Given the description of an element on the screen output the (x, y) to click on. 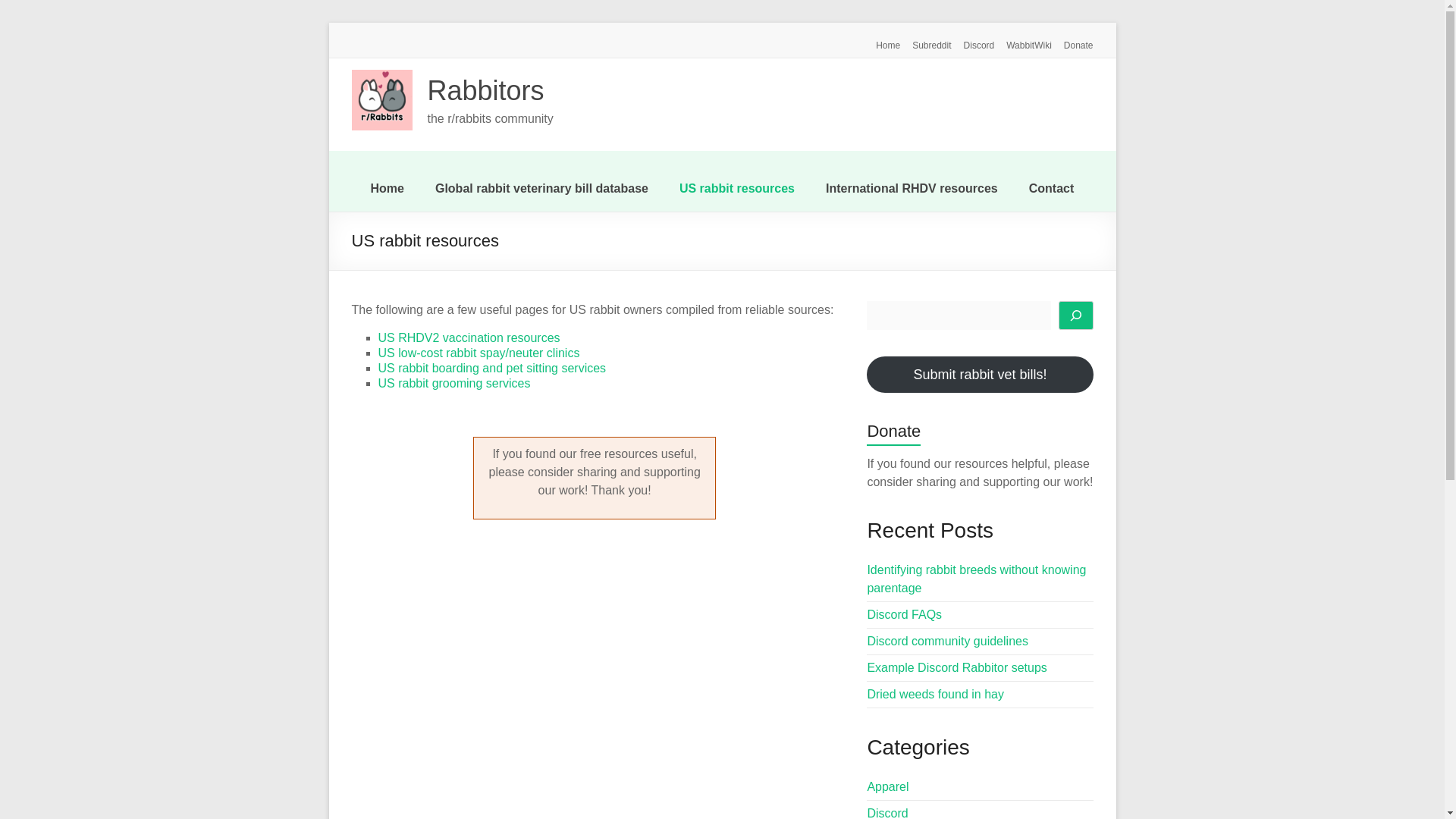
Discord (886, 812)
US rabbit grooming services (453, 382)
Rabbitors (486, 90)
Dried weeds found in hay (935, 694)
International RHDV resources (911, 188)
Discord FAQs (904, 614)
US rabbit boarding and pet sitting services (491, 367)
US rabbit resources (736, 188)
Home (881, 41)
